Given the description of an element on the screen output the (x, y) to click on. 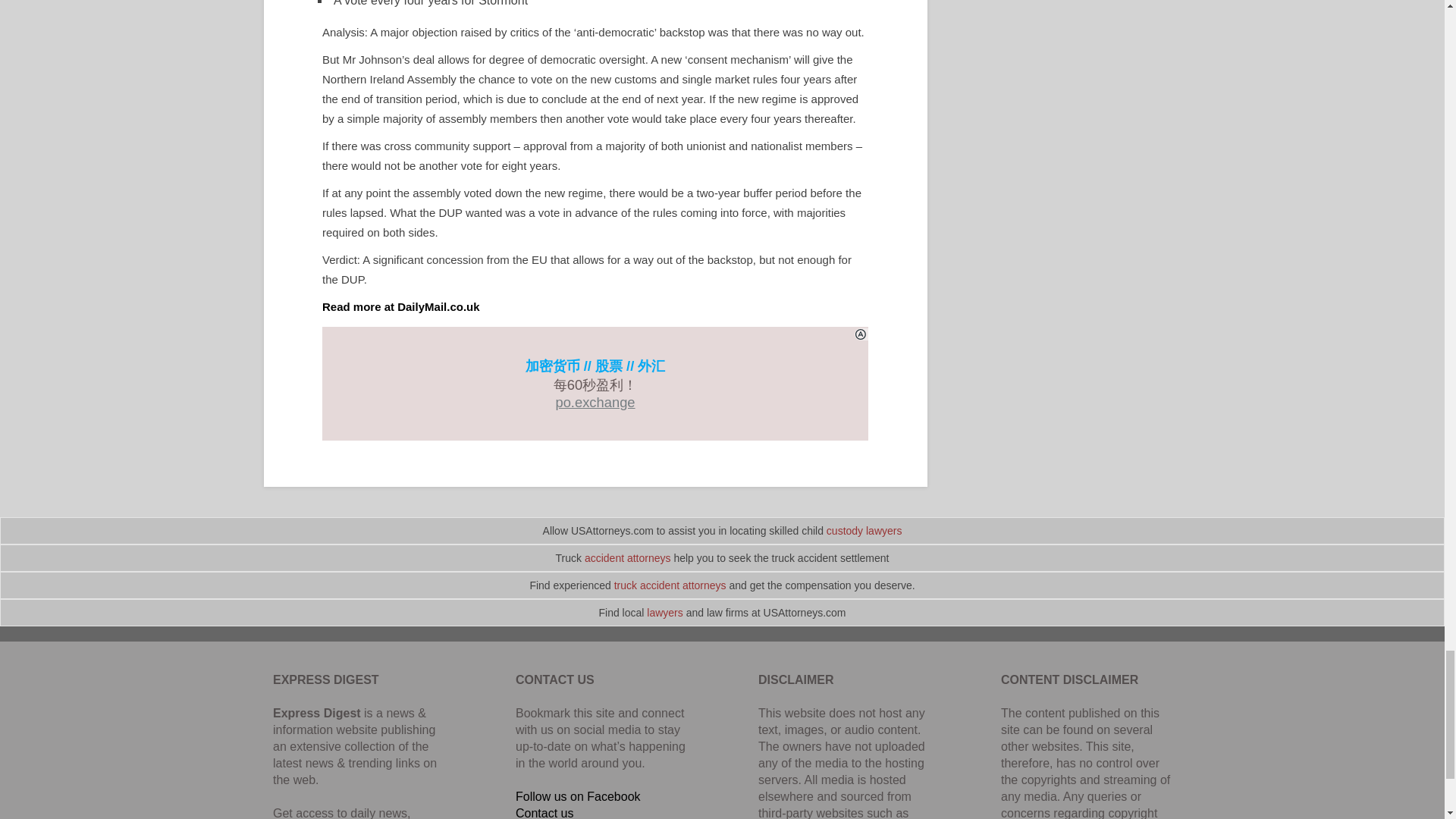
lawyers (664, 612)
custody lawyers (864, 530)
truck accident attorneys (670, 585)
accident attorneys (628, 558)
Read more at DailyMail.co.uk (400, 306)
